Given the description of an element on the screen output the (x, y) to click on. 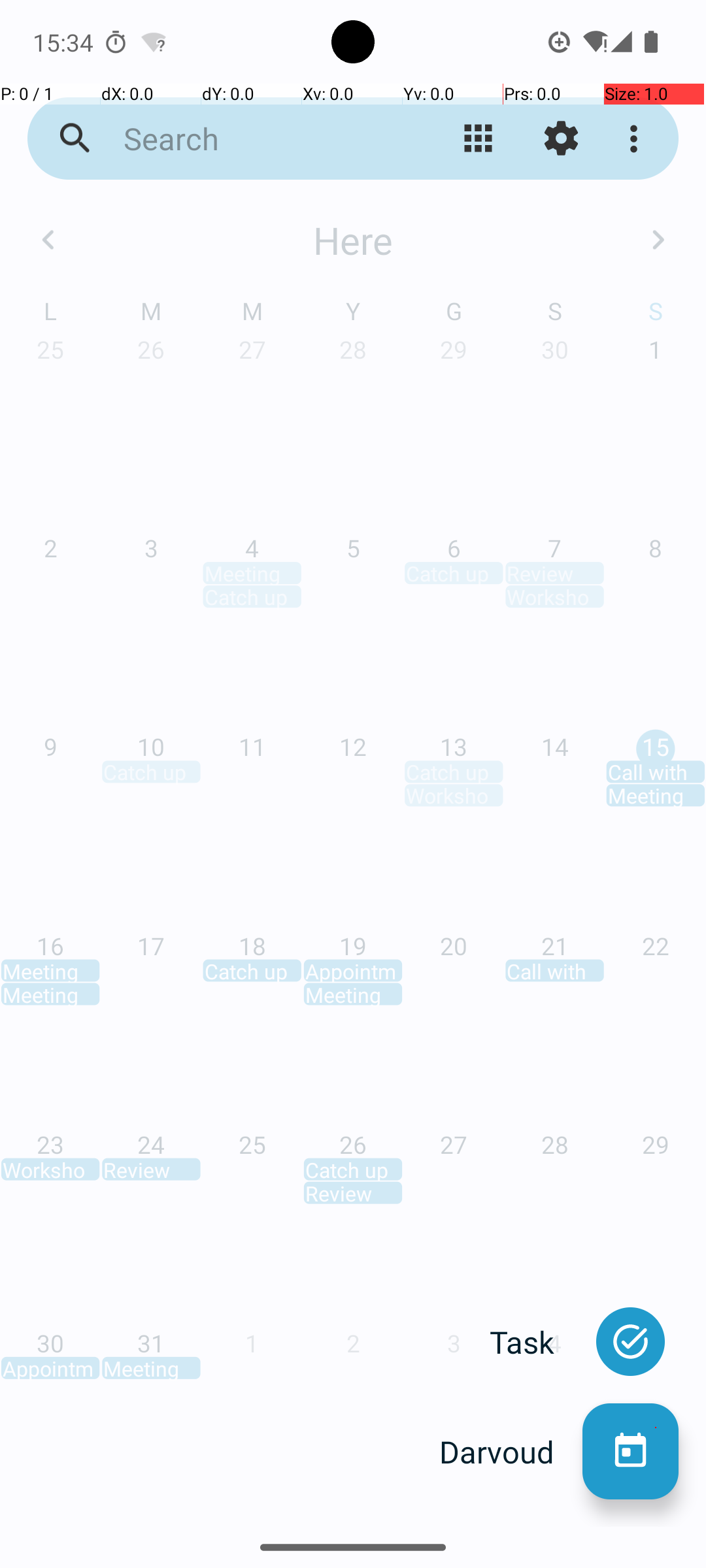
Kemmañ ar gwel Element type: android.widget.Button (477, 138)
Darvoud Element type: android.widget.TextView (510, 1451)
Darvoud nevez Element type: android.widget.ImageButton (630, 1451)
Here Element type: android.widget.TextView (352, 239)
